Given the description of an element on the screen output the (x, y) to click on. 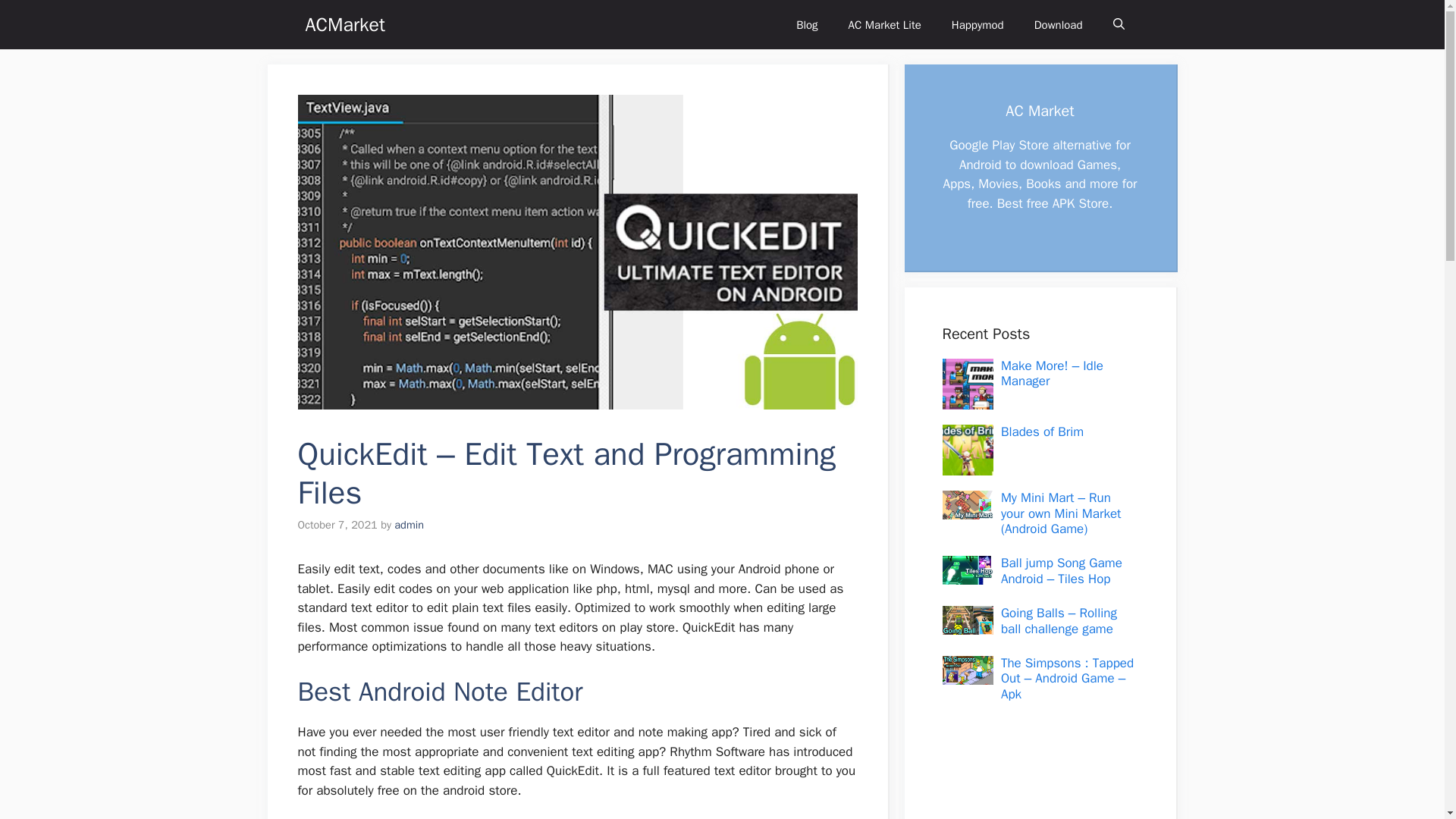
Blades of Brim (1042, 431)
Happymod (977, 23)
View all posts by admin (408, 524)
admin (408, 524)
Blog (806, 23)
Download (1058, 23)
Advertisement (1031, 773)
AC Market Lite (884, 23)
ACMarket (344, 24)
